Given the description of an element on the screen output the (x, y) to click on. 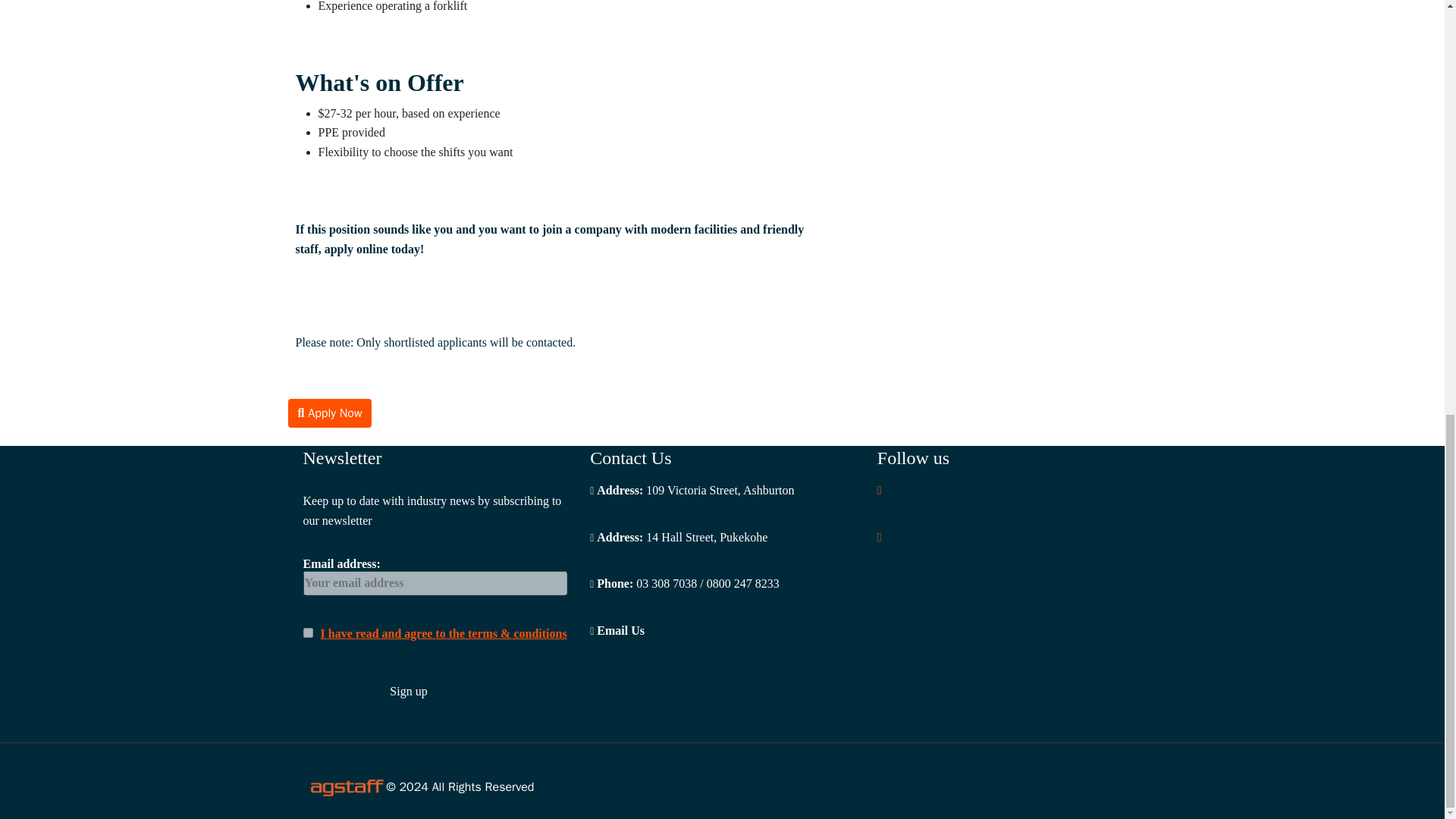
Apply Now (330, 412)
Sign up (408, 691)
1 (307, 633)
Sign up (408, 691)
